Given the description of an element on the screen output the (x, y) to click on. 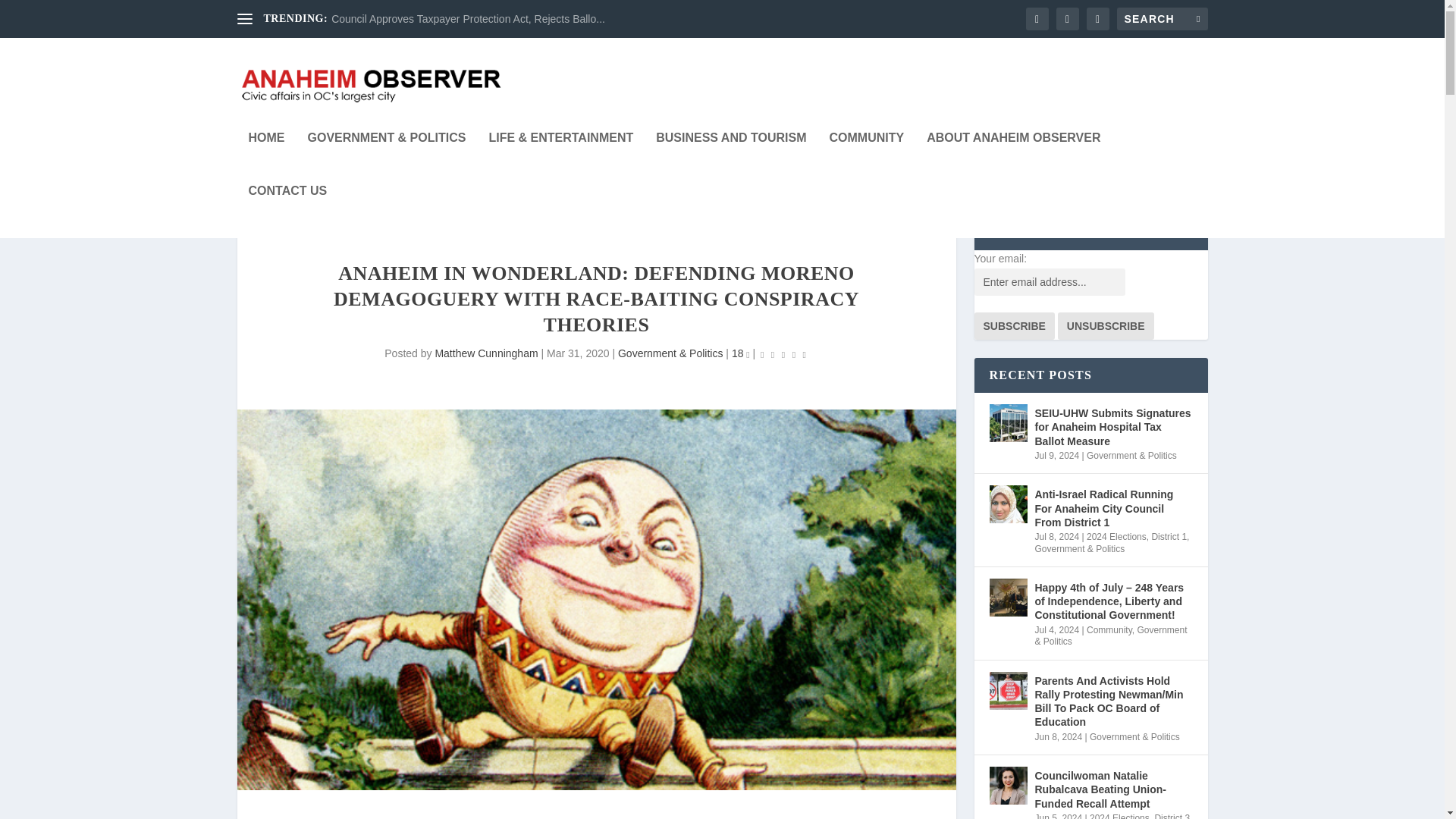
Unsubscribe (1106, 325)
CONTACT US (287, 211)
BUSINESS AND TOURISM (731, 158)
ABOUT ANAHEIM OBSERVER (1013, 158)
Council Approves Taxpayer Protection Act, Rejects Ballo... (468, 19)
Posts by Matthew Cunningham (485, 353)
Rating: 0.00 (783, 353)
Search for: (1161, 18)
Matthew Cunningham (485, 353)
COMMUNITY (866, 158)
Subscribe (1014, 325)
18 (740, 353)
Enter email address... (1049, 281)
